Given the description of an element on the screen output the (x, y) to click on. 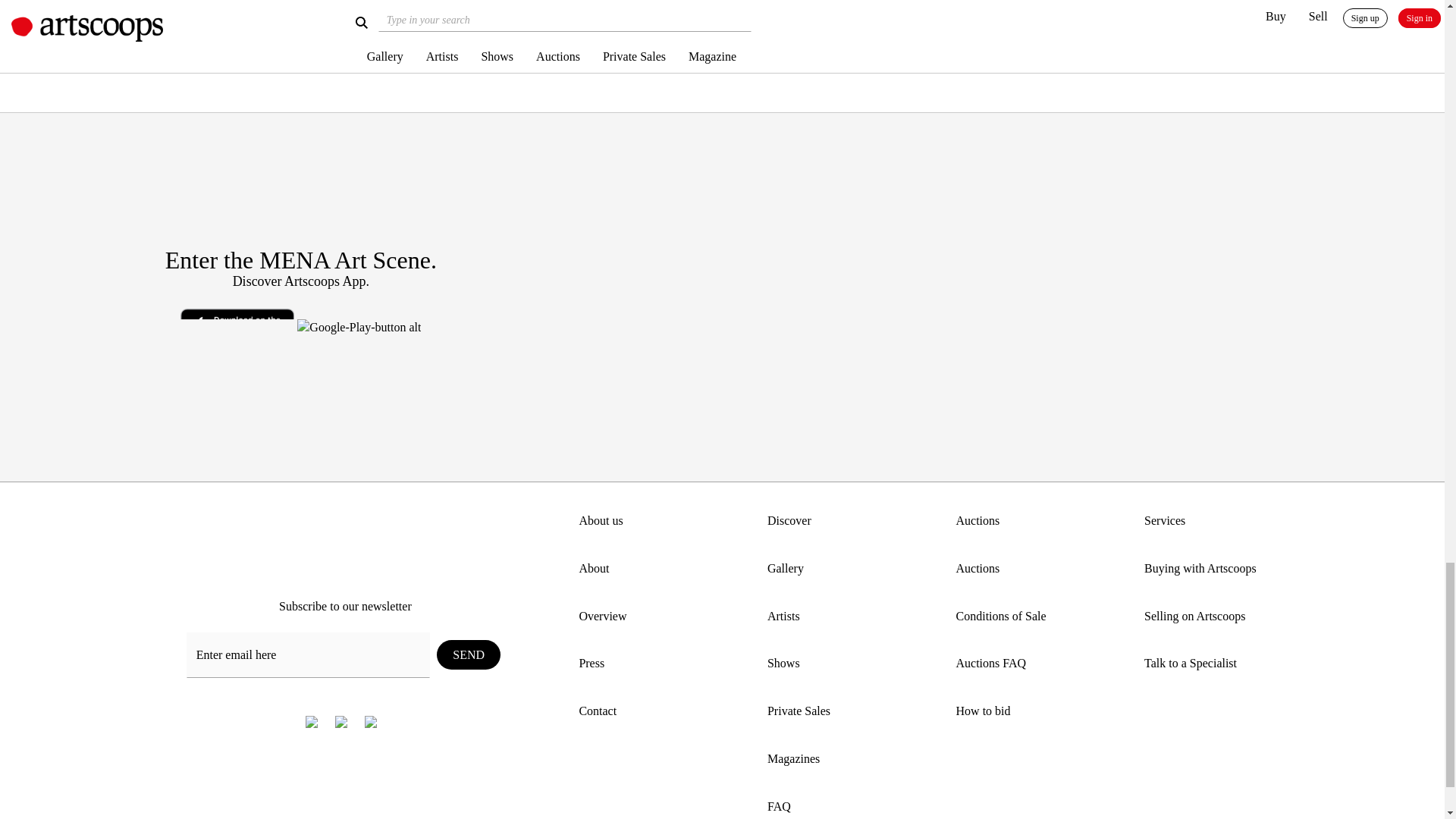
Instagram (340, 721)
Facebook (311, 721)
LinkedIn (370, 721)
